Given the description of an element on the screen output the (x, y) to click on. 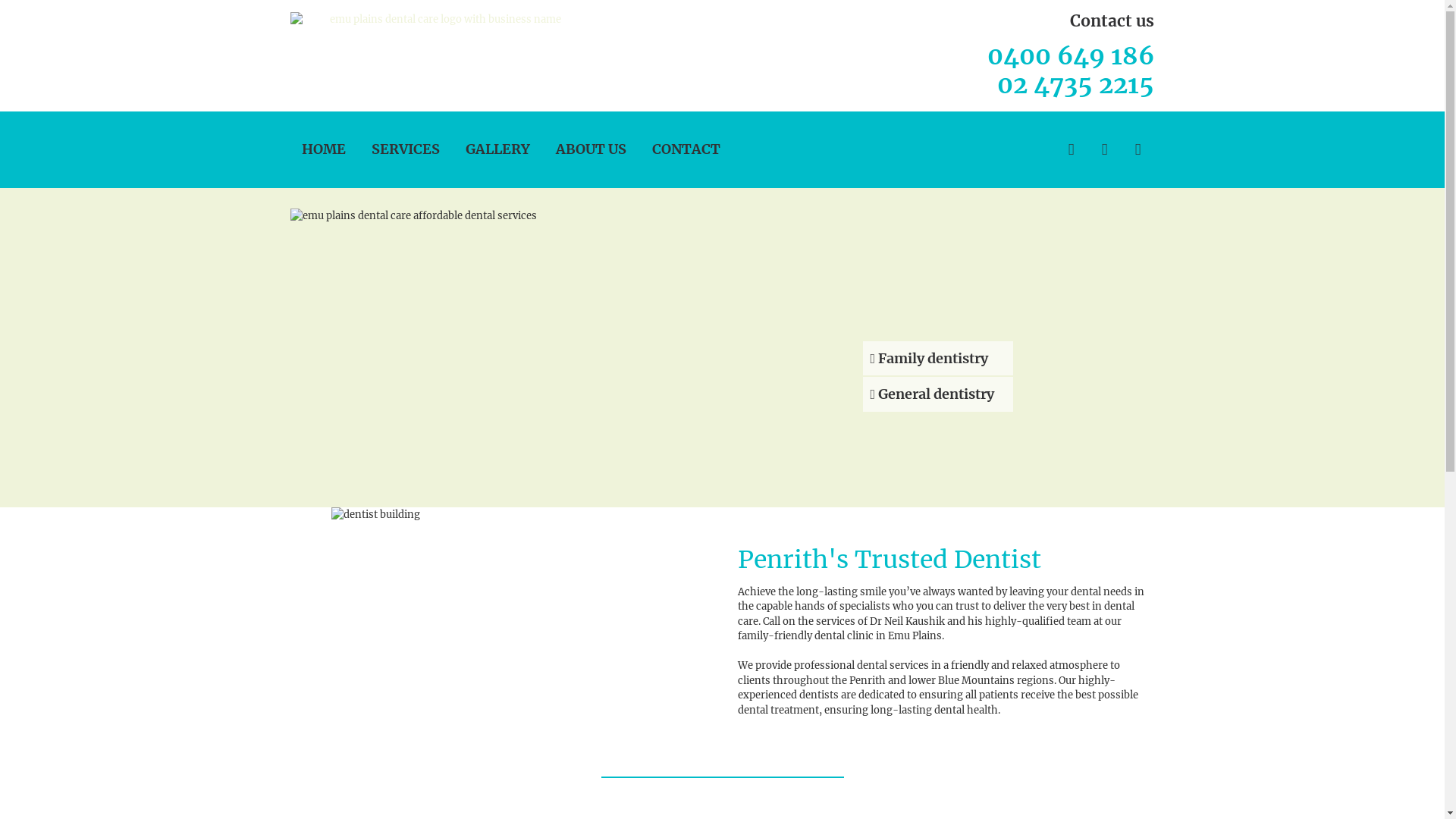
emu plains dental care affordable dental services Element type: hover (721, 352)
0400 649 186 Element type: text (1070, 55)
ABOUT US Element type: text (590, 149)
02 4735 2215 Element type: text (1075, 84)
SERVICES Element type: text (405, 149)
emu plains dental care logo with business name Element type: hover (438, 19)
CONTACT Element type: text (686, 149)
GALLERY Element type: text (497, 149)
HOME Element type: text (323, 149)
